Given the description of an element on the screen output the (x, y) to click on. 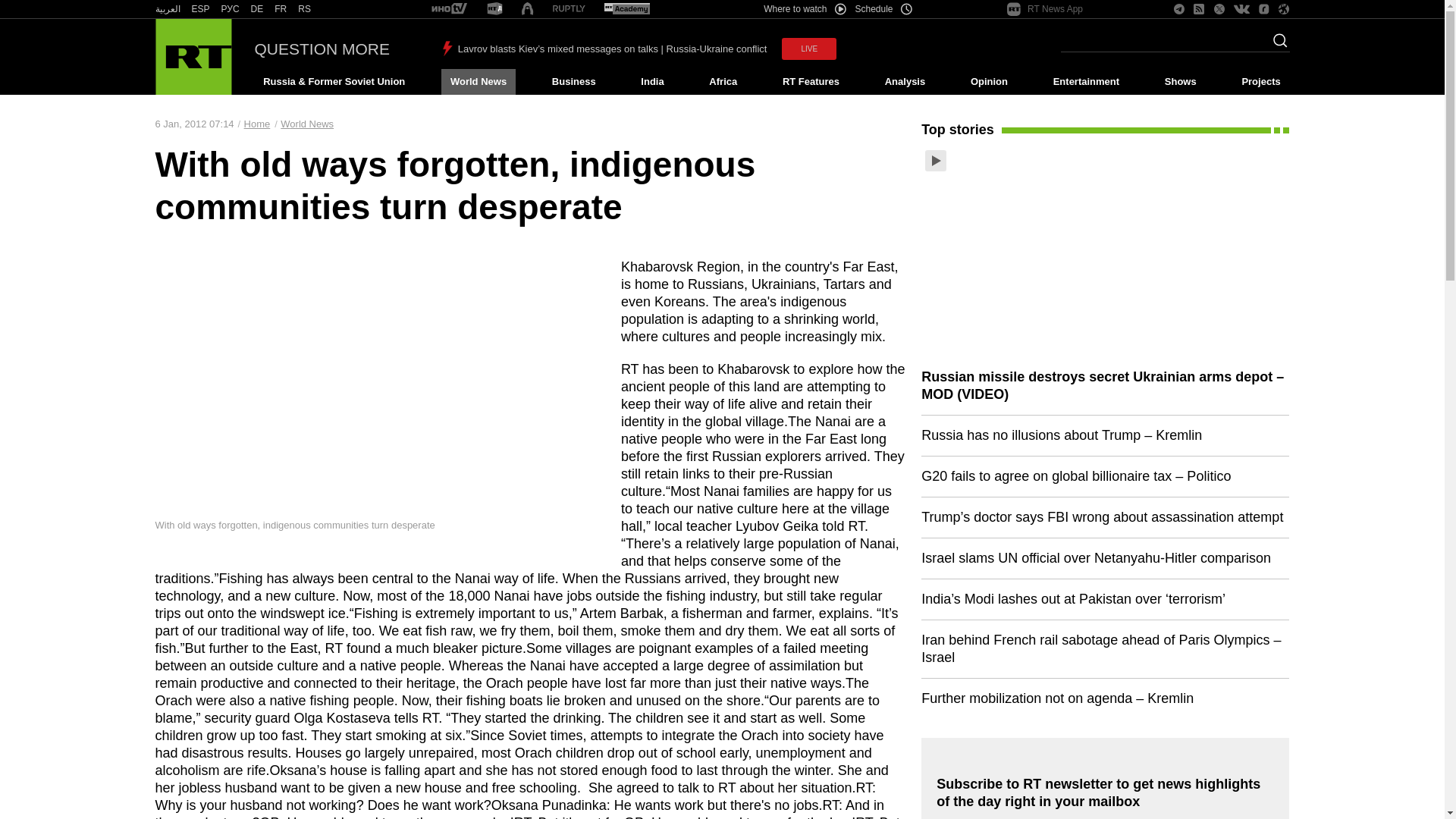
RS (304, 9)
RT  (526, 9)
ESP (199, 9)
Entertainment (1085, 81)
RT  (166, 9)
Shows (1180, 81)
RT  (304, 9)
RT  (569, 8)
Schedule (884, 9)
Search (1276, 44)
Africa (722, 81)
RT  (280, 9)
RT  (230, 9)
RT  (256, 9)
DE (256, 9)
